Given the description of an element on the screen output the (x, y) to click on. 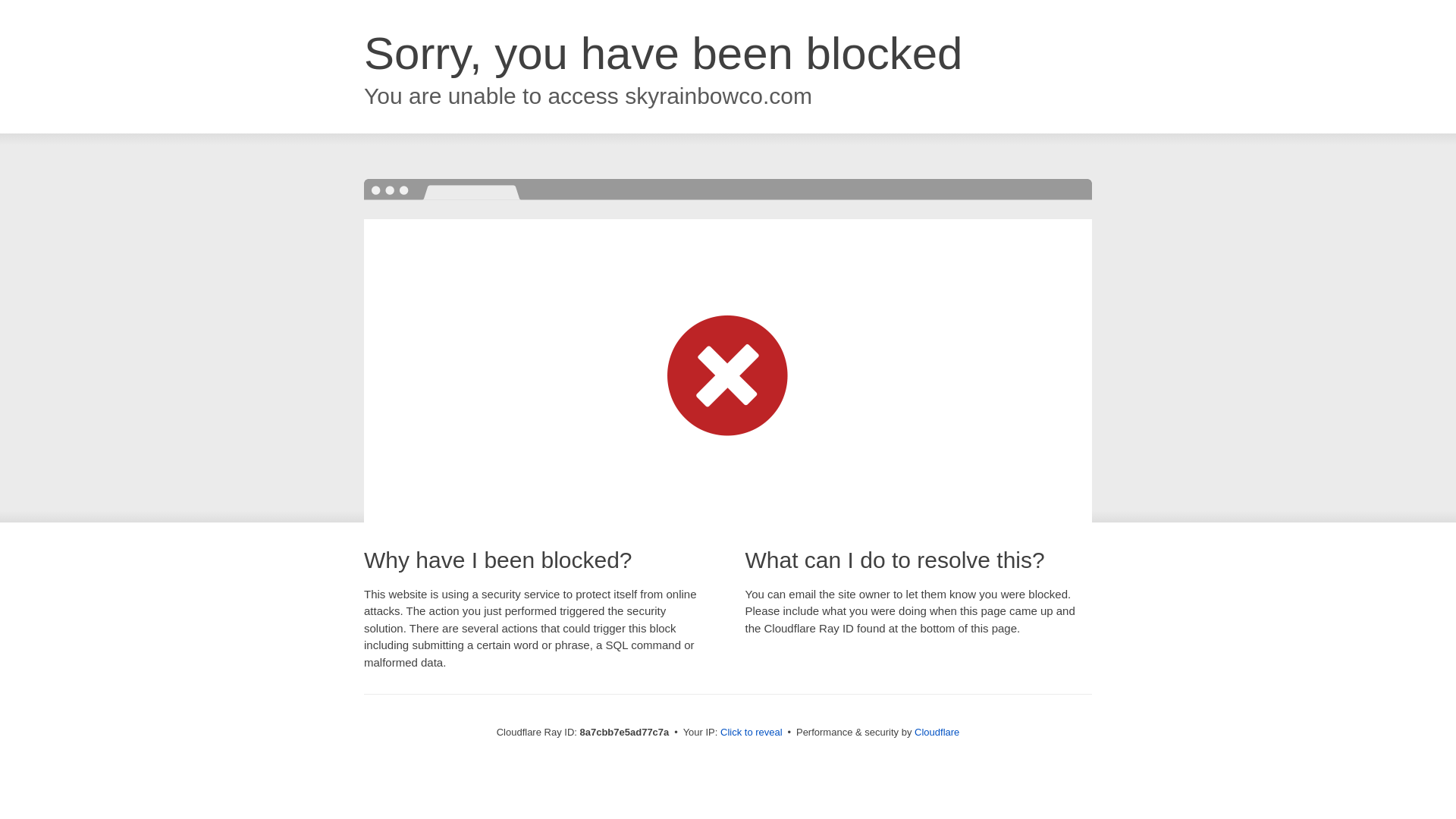
Cloudflare (936, 731)
Click to reveal (751, 732)
